Given the description of an element on the screen output the (x, y) to click on. 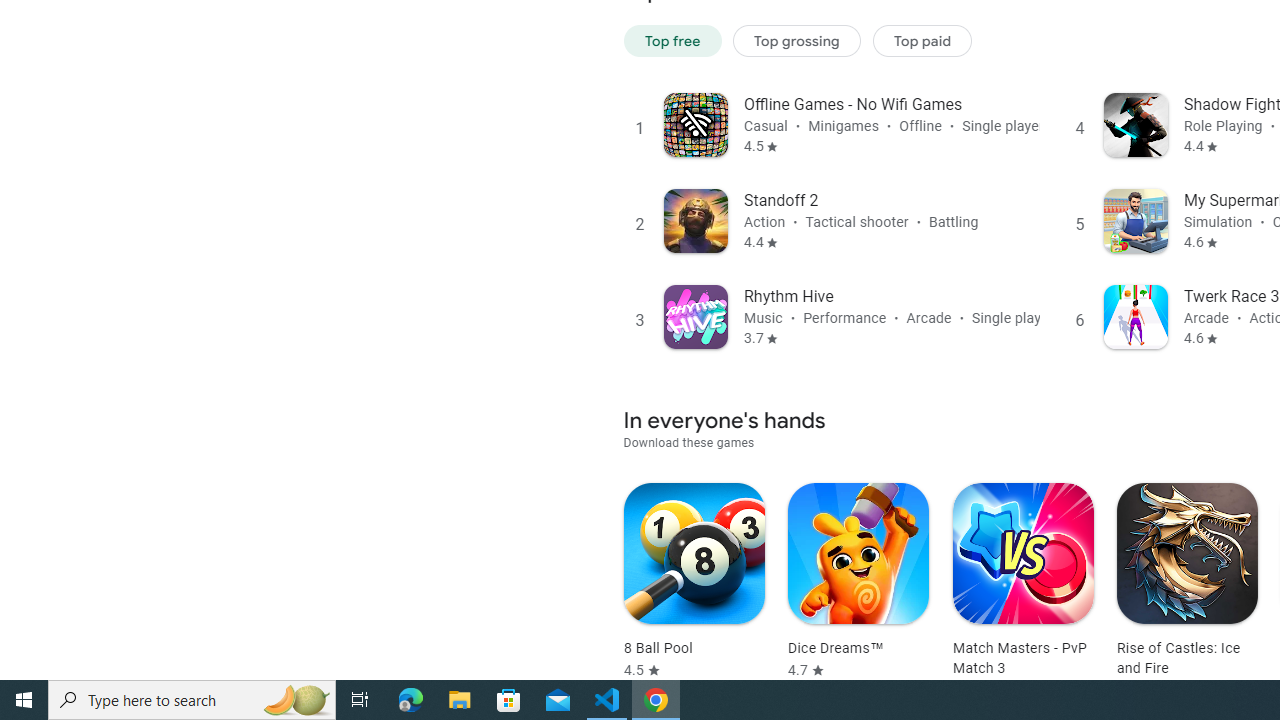
8 Ball Pool Rated 4.5 stars out of five stars (694, 581)
Top paid (922, 39)
Top free (672, 39)
Top grossing (797, 39)
